Given the description of an element on the screen output the (x, y) to click on. 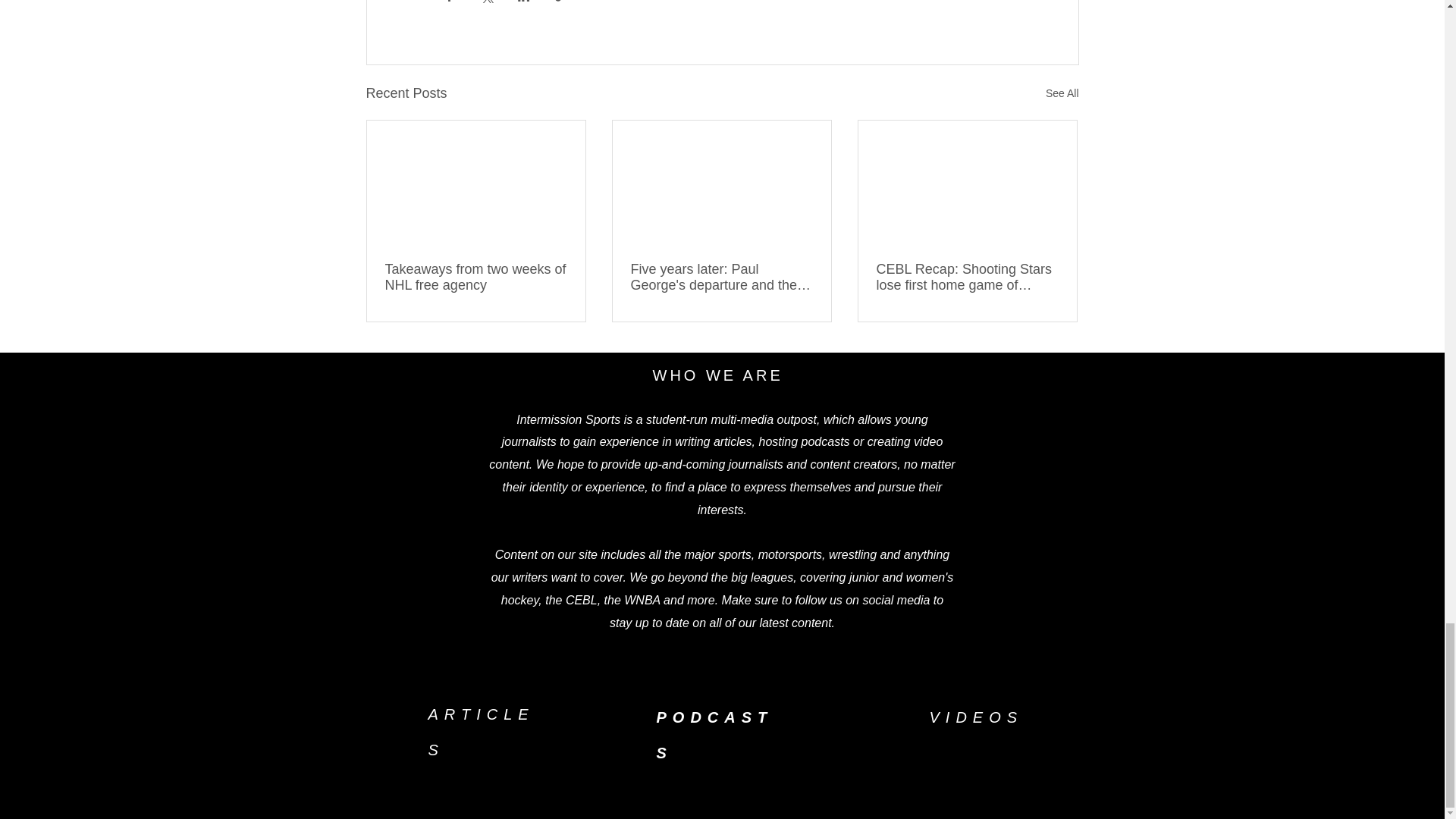
Takeaways from two weeks of NHL free agency (476, 277)
See All (1061, 93)
